Given the description of an element on the screen output the (x, y) to click on. 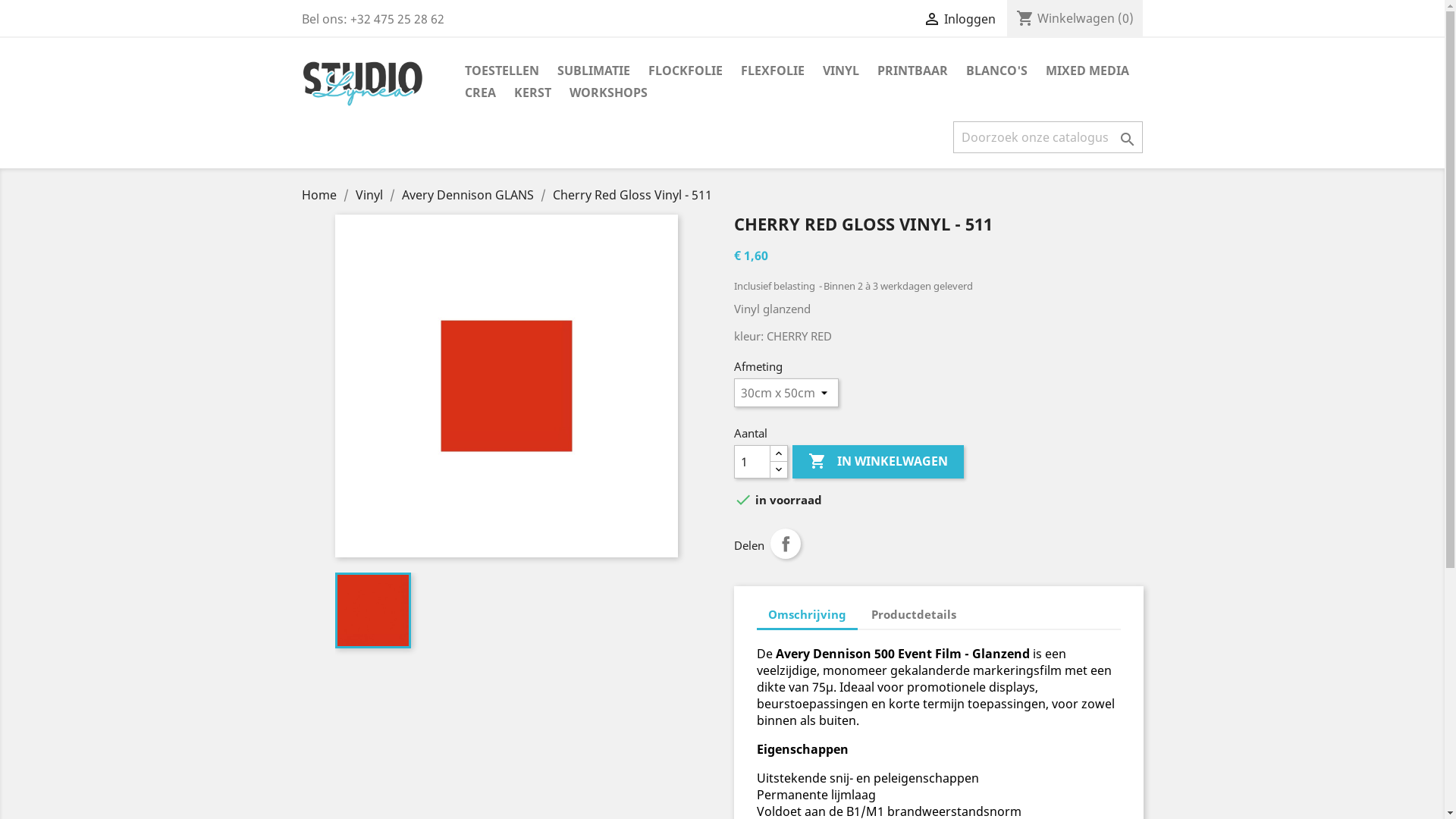
Avery Dennison GLANS Element type: text (468, 194)
Vinyl Element type: text (369, 194)
SUBLIMATIE Element type: text (593, 71)
VINYL Element type: text (840, 71)
FLEXFOLIE Element type: text (771, 71)
Cherry Red Gloss Vinyl - 511 Element type: text (631, 194)
BLANCO'S Element type: text (996, 71)
MIXED MEDIA Element type: text (1086, 71)
WORKSHOPS Element type: text (607, 93)
PRINTBAAR Element type: text (911, 71)
FLOCKFOLIE Element type: text (684, 71)
CREA Element type: text (479, 93)
Delen Element type: text (785, 543)
KERST Element type: text (532, 93)
Home Element type: text (320, 194)
Omschrijving Element type: text (806, 615)
TOESTELLEN Element type: text (501, 71)
Productdetails Element type: text (913, 614)
